Given the description of an element on the screen output the (x, y) to click on. 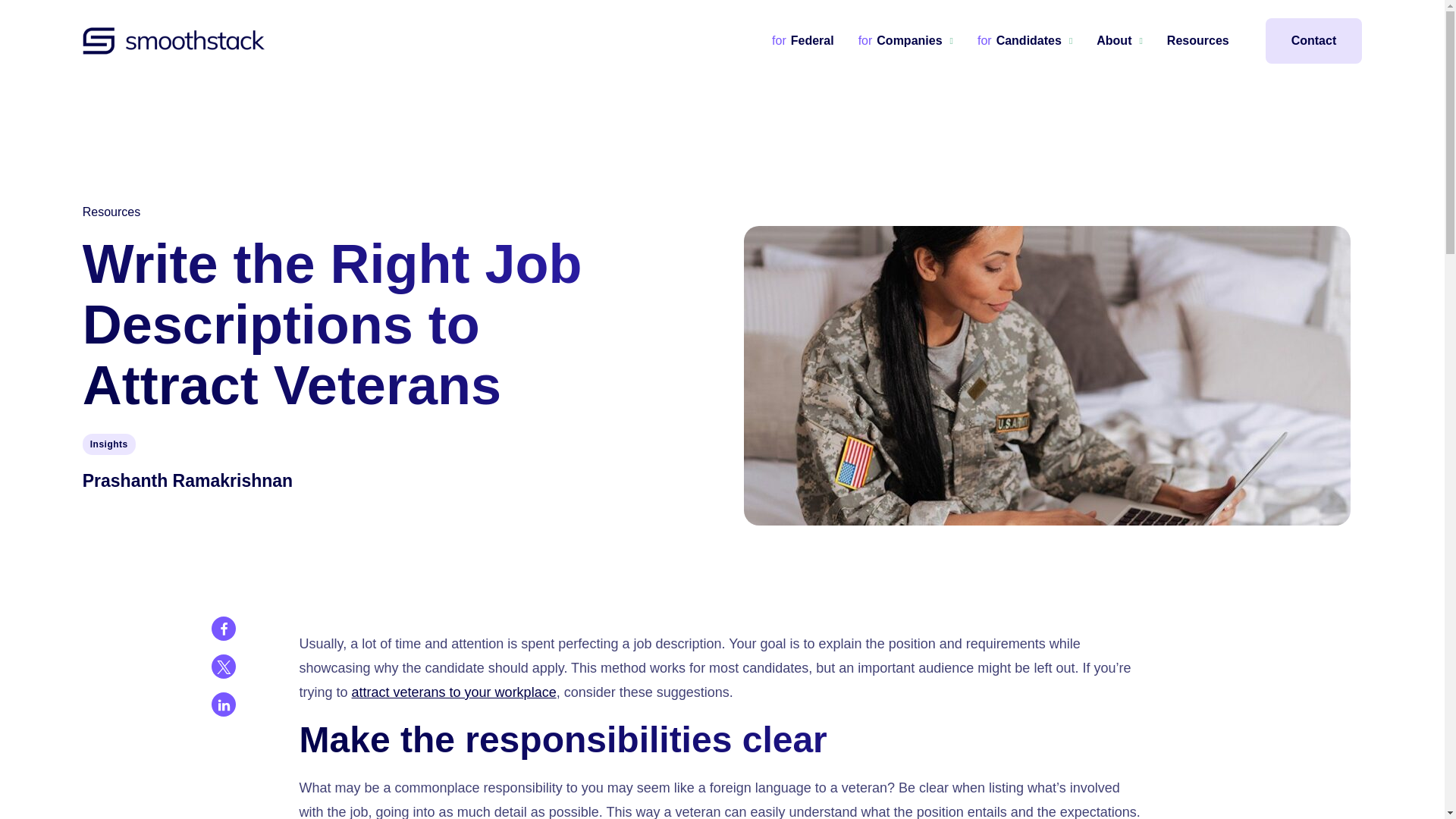
Candidates (1023, 40)
Resources (1197, 40)
Contact (1313, 40)
Back to home (173, 40)
About (1119, 40)
Companies (906, 40)
Federal (802, 40)
